Given the description of an element on the screen output the (x, y) to click on. 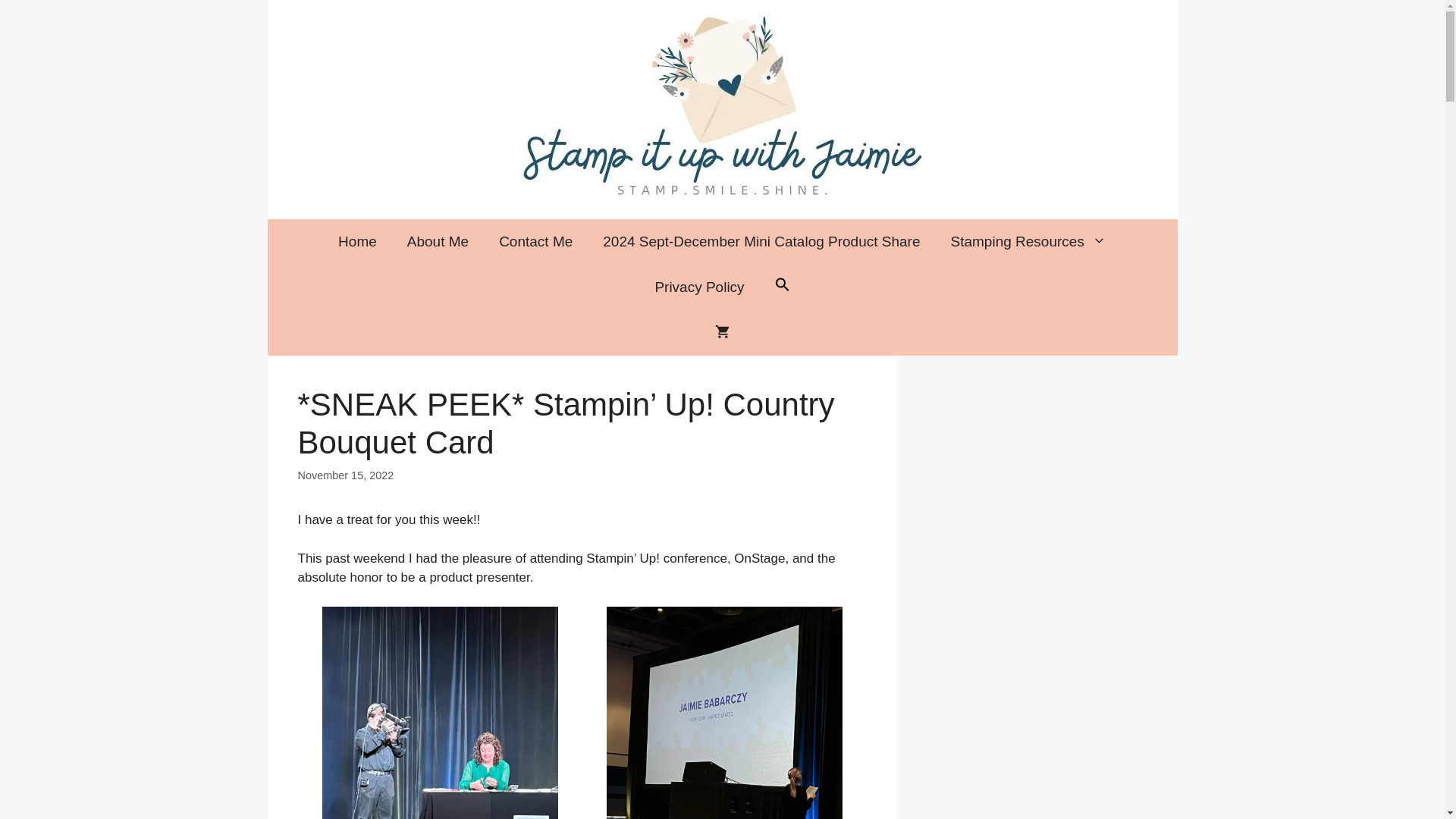
Stamping Resources (1028, 241)
Privacy Policy (698, 287)
Home (357, 241)
About Me (437, 241)
View your shopping cart (722, 332)
2024 Sept-December Mini Catalog Product Share (761, 241)
Contact Me (535, 241)
